Given the description of an element on the screen output the (x, y) to click on. 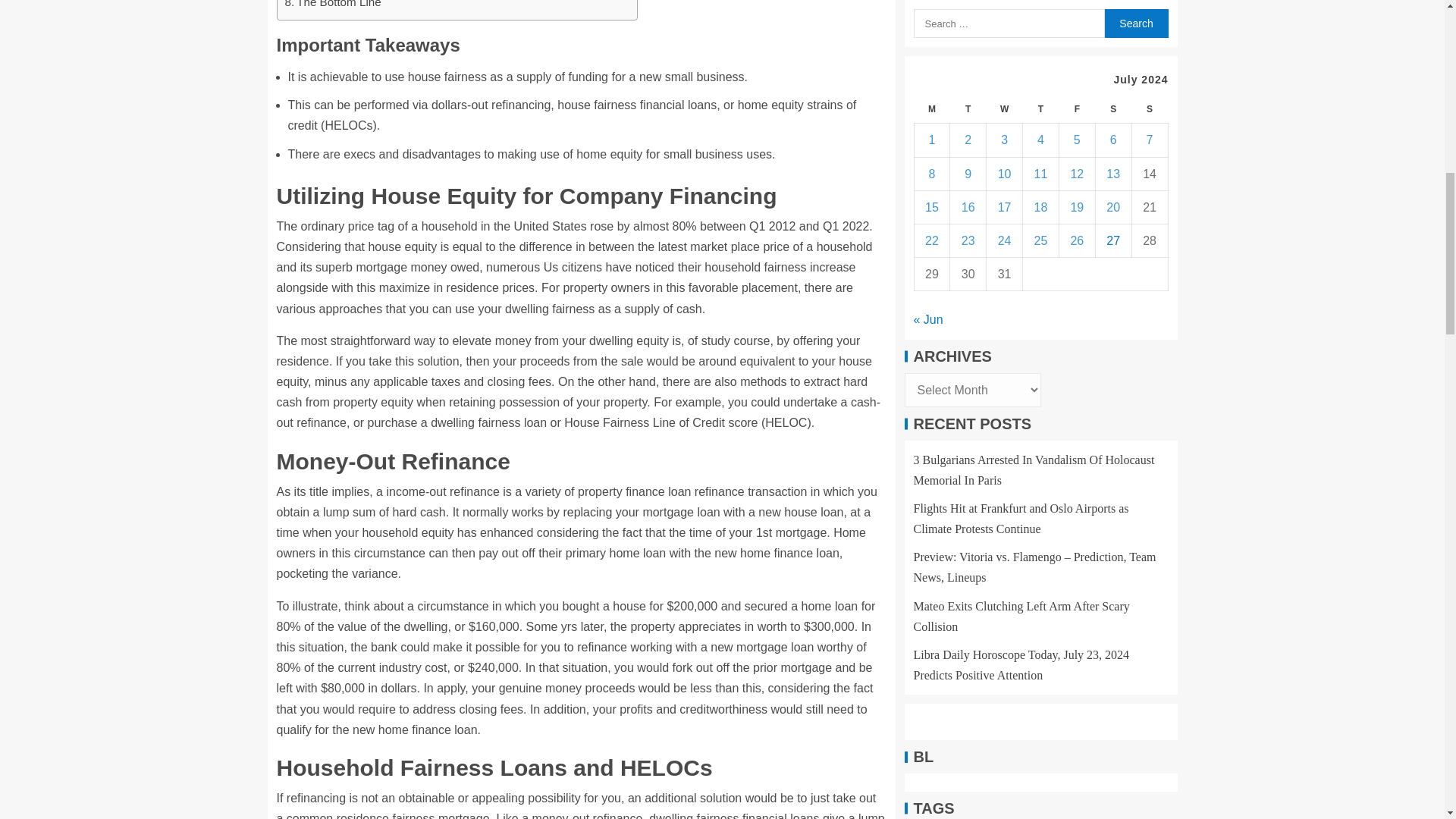
The Bottom Line (333, 5)
The Bottom Line (333, 5)
